Given the description of an element on the screen output the (x, y) to click on. 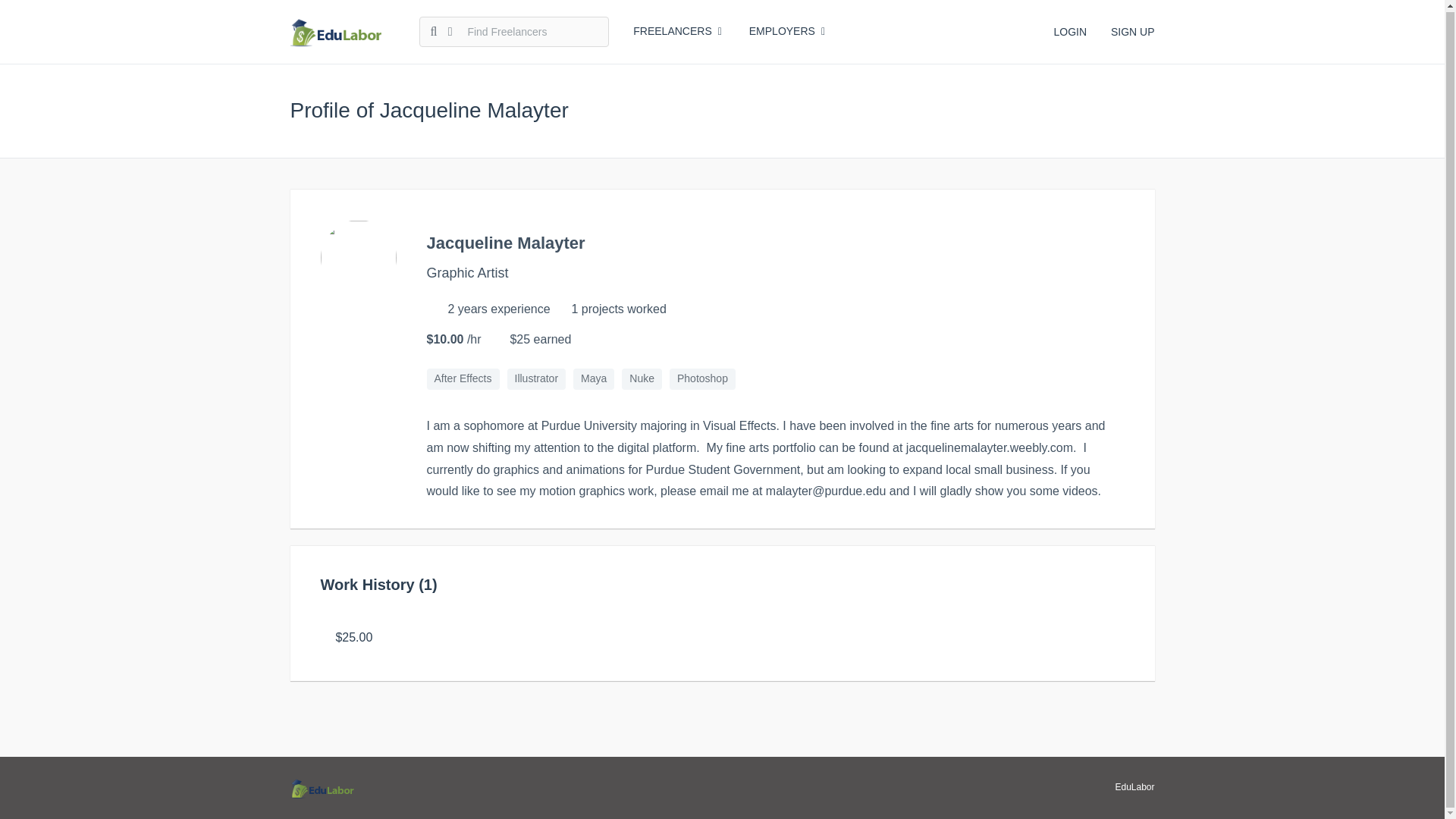
EduLabor (1134, 787)
LOGIN (1069, 30)
FREELANCERS (677, 29)
EMPLOYERS (787, 29)
SIGN UP (1132, 30)
